Given the description of an element on the screen output the (x, y) to click on. 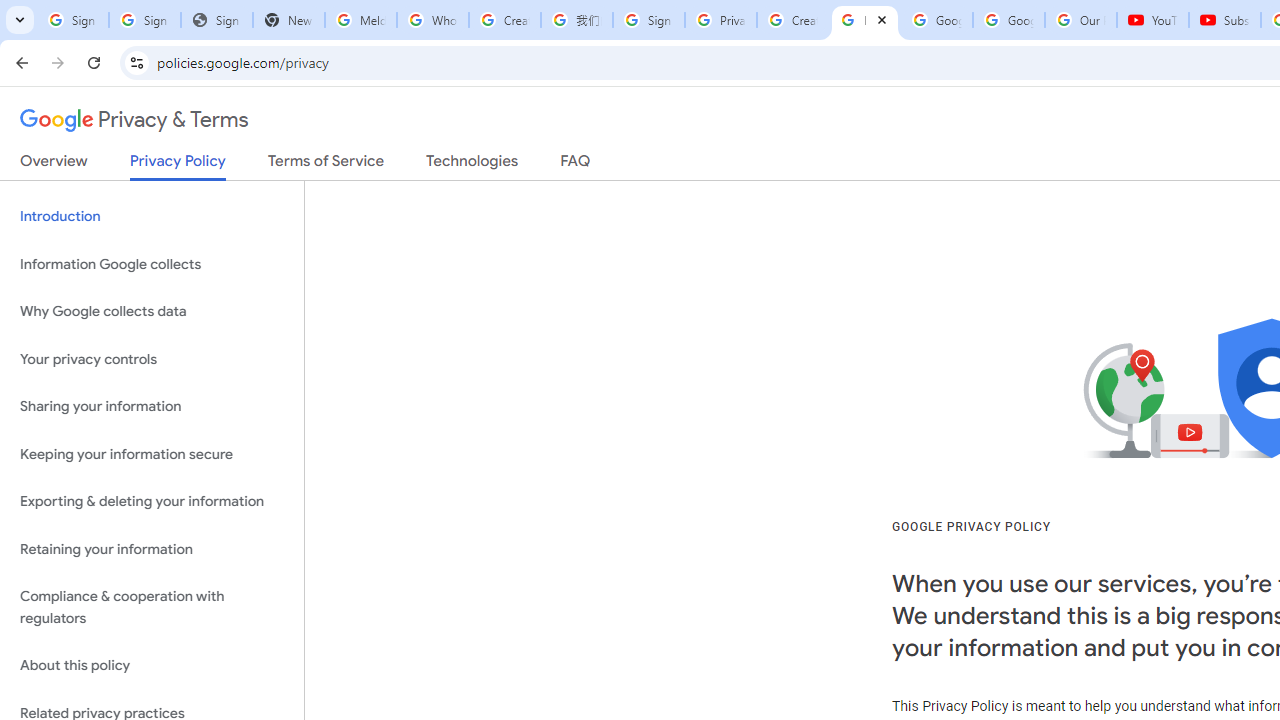
About this policy (152, 666)
Sign In - USA TODAY (216, 20)
Exporting & deleting your information (152, 502)
Retaining your information (152, 548)
Keeping your information secure (152, 453)
Information Google collects (152, 263)
